Given the description of an element on the screen output the (x, y) to click on. 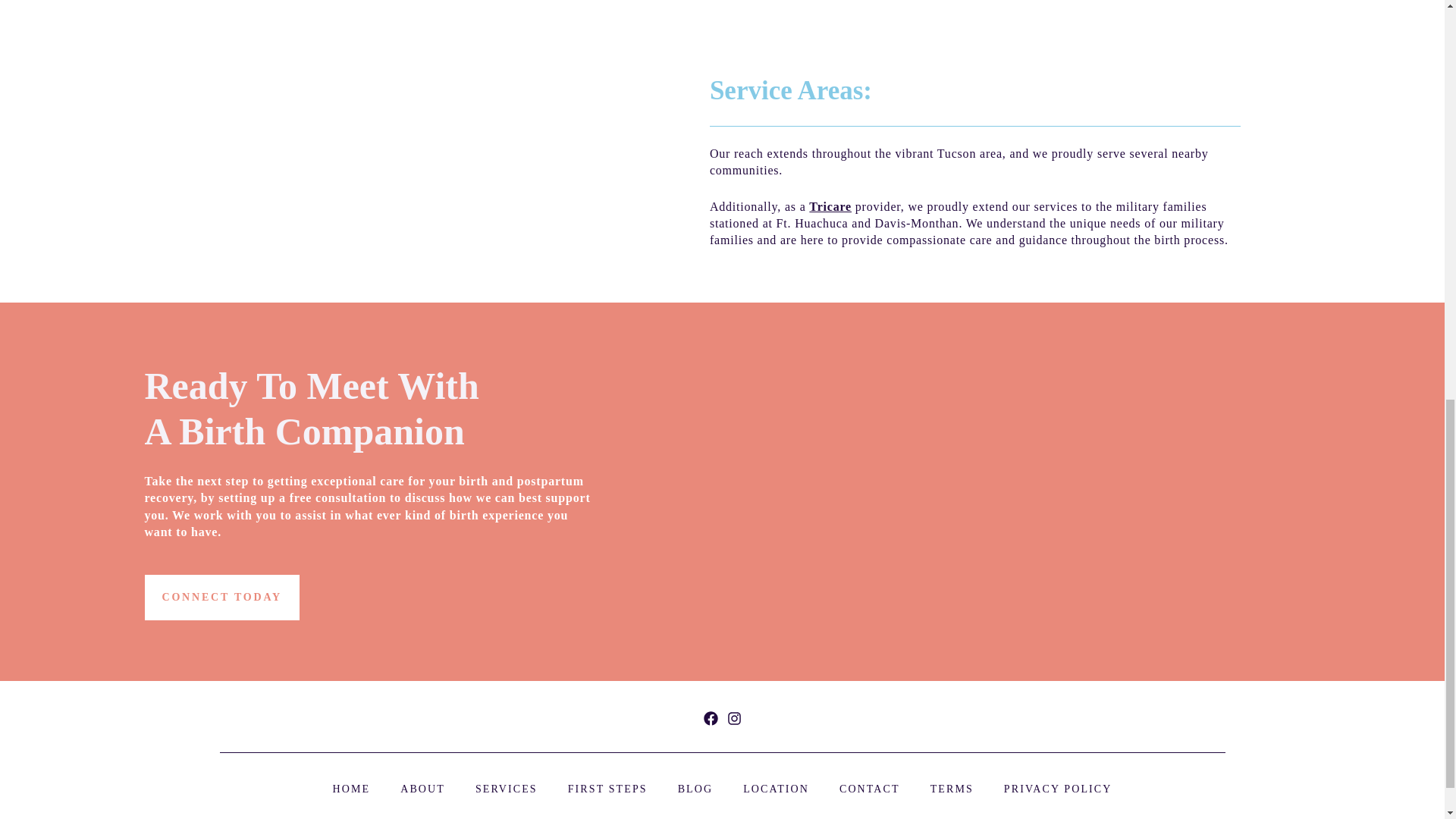
SERVICES (506, 788)
FIRST STEPS (607, 788)
LOCATION (775, 788)
HOME (352, 788)
BLOG (695, 788)
ABOUT (422, 788)
CONTACT (869, 788)
CONNECT TODAY (221, 596)
PRIVACY POLICY (1058, 788)
TERMS (952, 788)
